Given the description of an element on the screen output the (x, y) to click on. 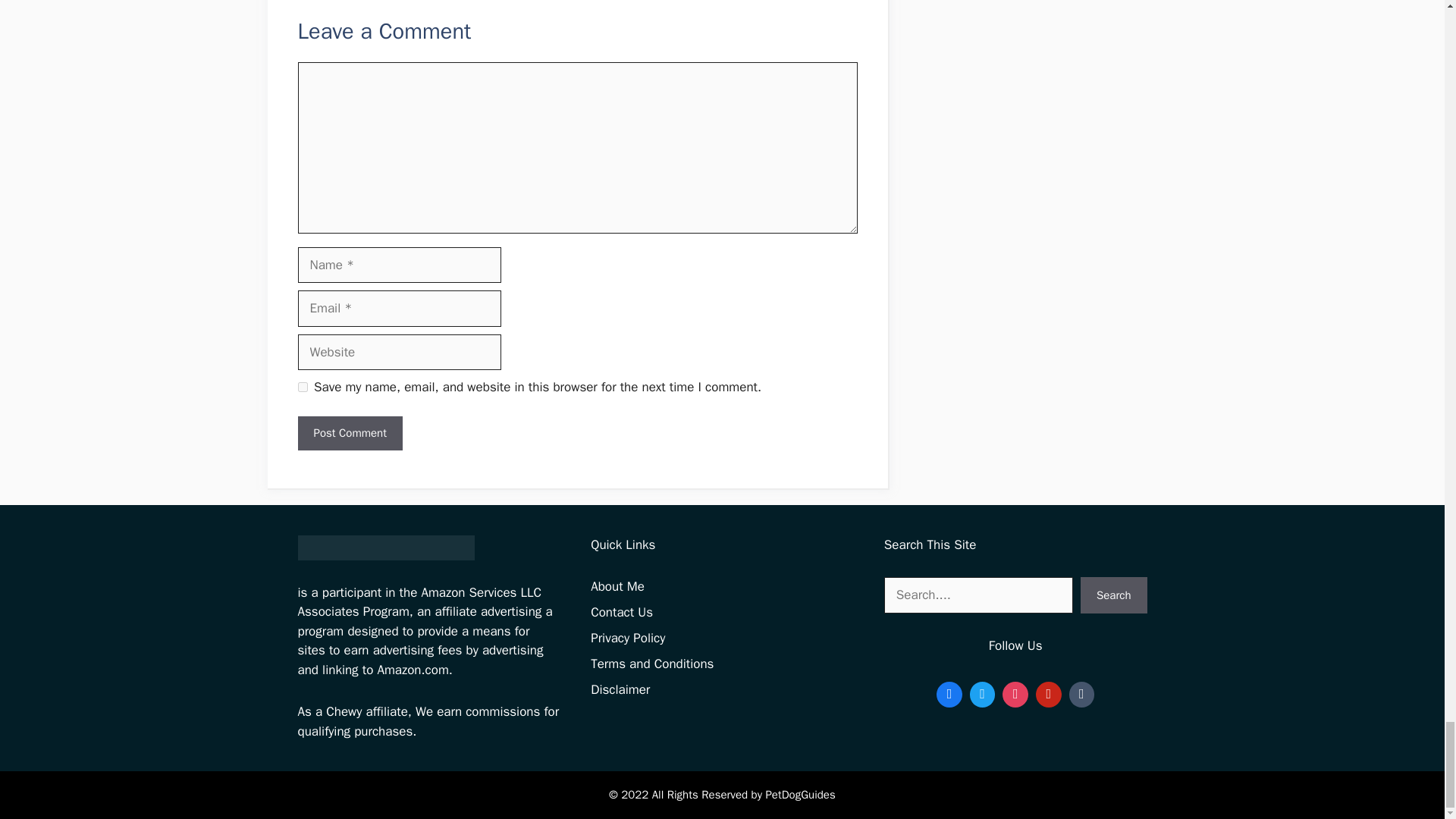
Post Comment (349, 433)
yes (302, 387)
